Given the description of an element on the screen output the (x, y) to click on. 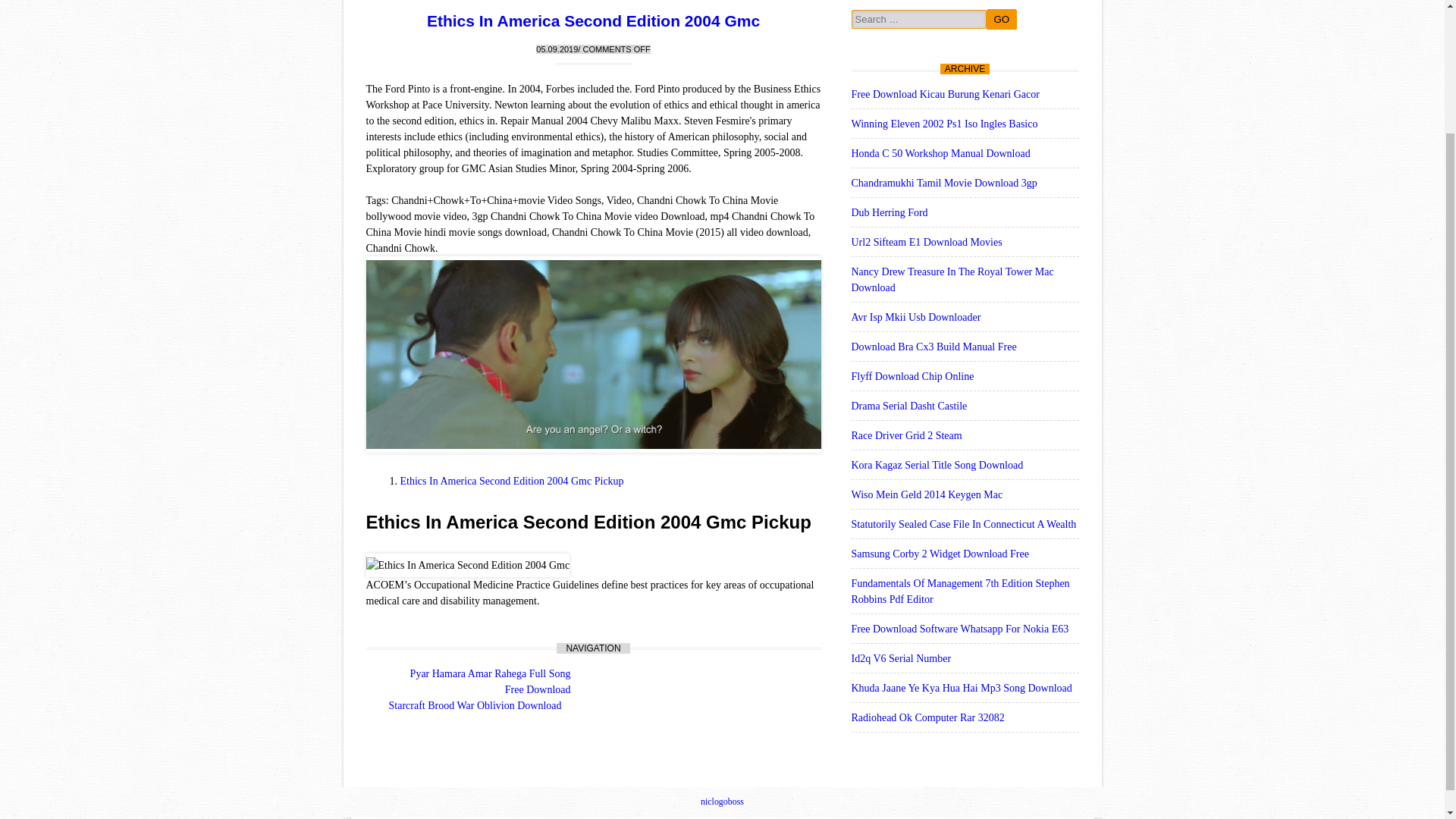
Pyar Hamara Amar Rahega Full Song Free Download (490, 681)
Id2q V6 Serial Number (900, 658)
Ethics In America Second Edition 2004 Gmc (467, 565)
Chandramukhi Tamil Movie Download 3gp (943, 183)
Free Download Software Whatsapp For Nokia E63 (959, 628)
Flyff Download Chip Online (912, 376)
Radiohead Ok Computer Rar 32082 (927, 717)
Statutorily Sealed Case File In Connecticut A Wealth (962, 523)
Winning Eleven 2002 Ps1 Iso Ingles Basico (943, 123)
Starcraft Brood War Oblivion Download (474, 705)
